Given the description of an element on the screen output the (x, y) to click on. 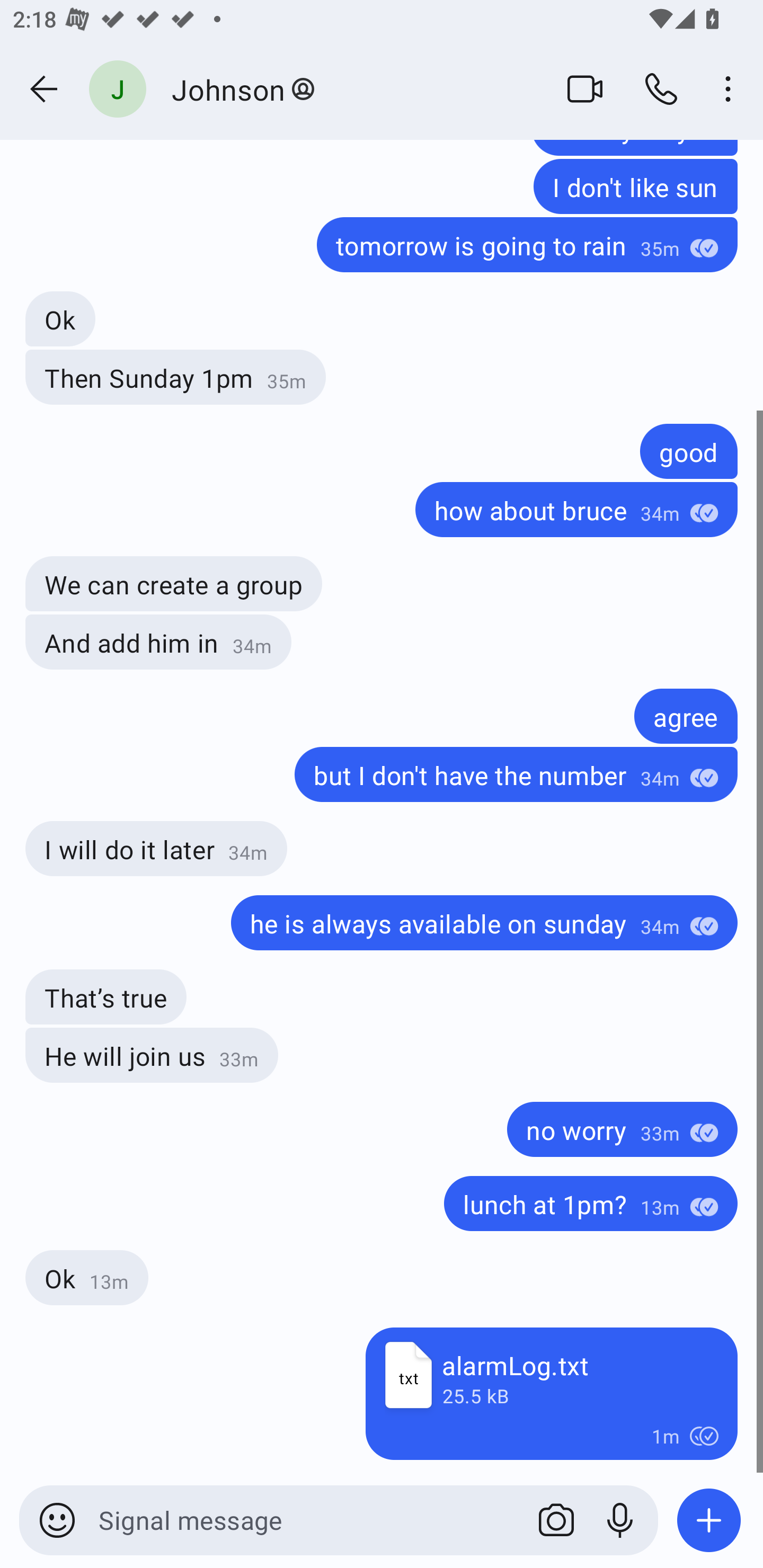
Signal video call (585, 88)
